Given the description of an element on the screen output the (x, y) to click on. 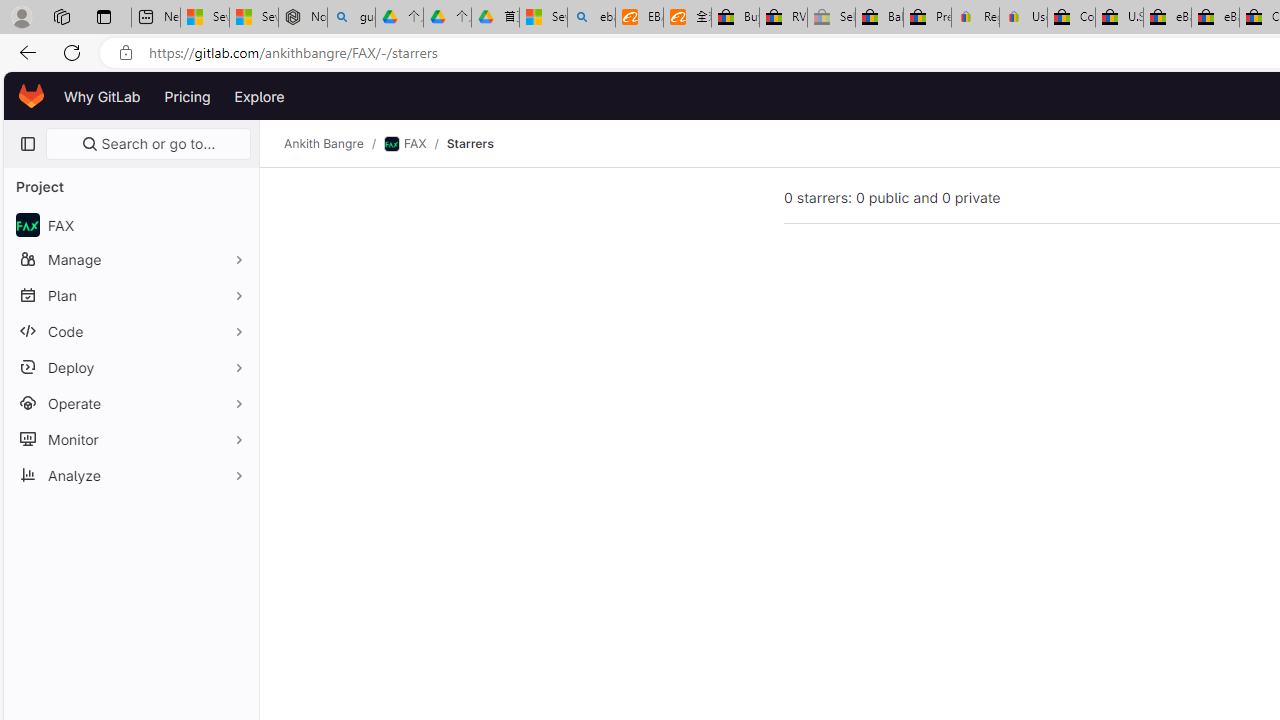
Consumer Health Data Privacy Policy - eBay Inc. (1071, 17)
Operate (130, 403)
Baby Keepsakes & Announcements for sale | eBay (879, 17)
Analyze (130, 475)
Monitor (130, 439)
Deploy (130, 367)
Register: Create a personal eBay account (975, 17)
avatar (27, 224)
U.S. State Privacy Disclosures - eBay Inc. (1119, 17)
avatar FAX (130, 224)
Monitor (130, 439)
